Given the description of an element on the screen output the (x, y) to click on. 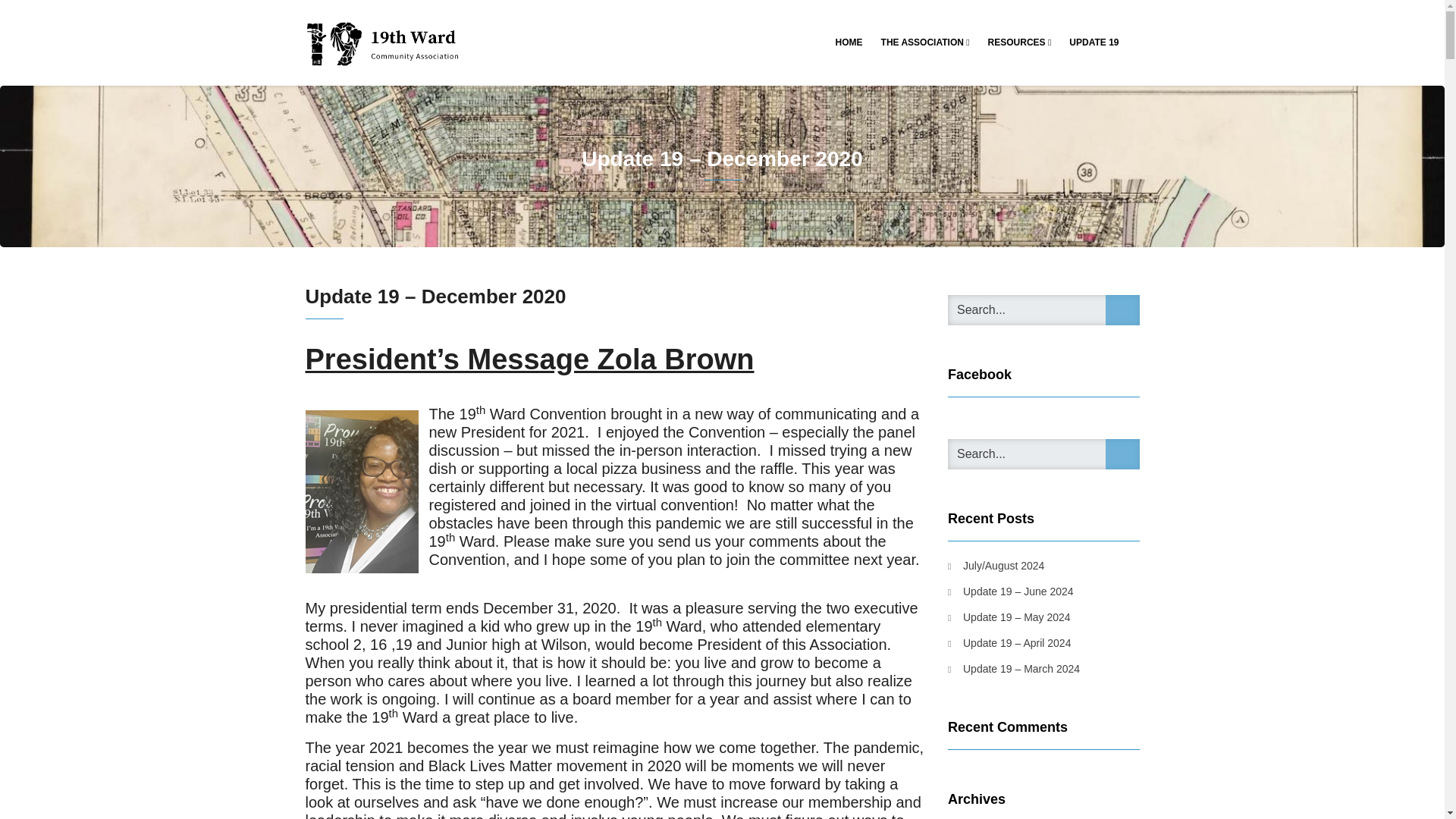
UPDATE 19 (1092, 42)
THE ASSOCIATION (925, 42)
RESOURCES (1019, 42)
HOME (849, 42)
Search for: (1043, 309)
Search for: (1043, 453)
